Given the description of an element on the screen output the (x, y) to click on. 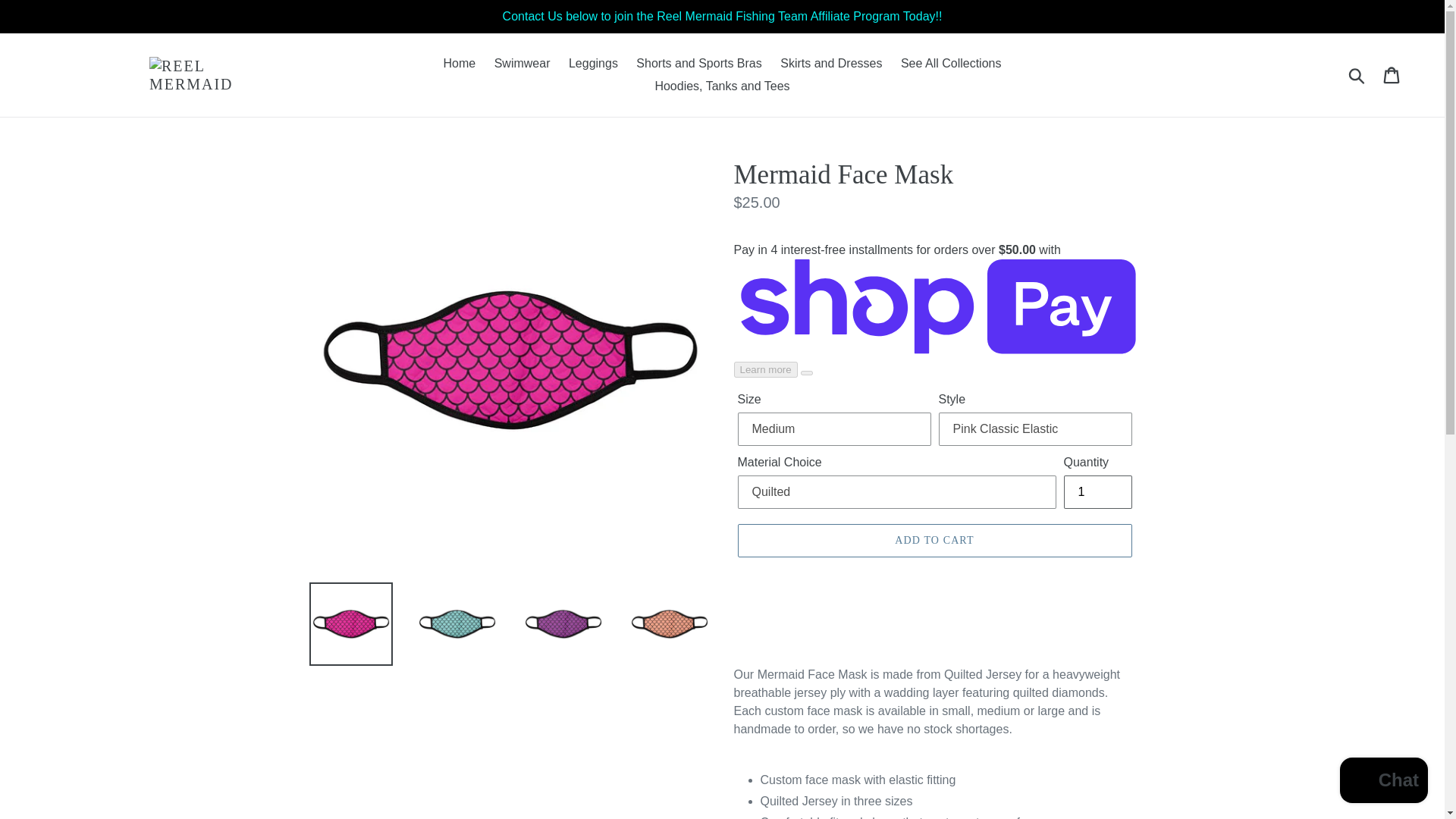
See All Collections (951, 63)
Home (459, 63)
Hoodies, Tanks and Tees (721, 86)
ADD TO CART (933, 540)
Cart (1392, 74)
Leggings (593, 63)
Swimwear (521, 63)
Skirts and Dresses (831, 63)
Shopify online store chat (1383, 781)
1 (1096, 491)
Shorts and Sports Bras (698, 63)
Submit (1357, 74)
